Given the description of an element on the screen output the (x, y) to click on. 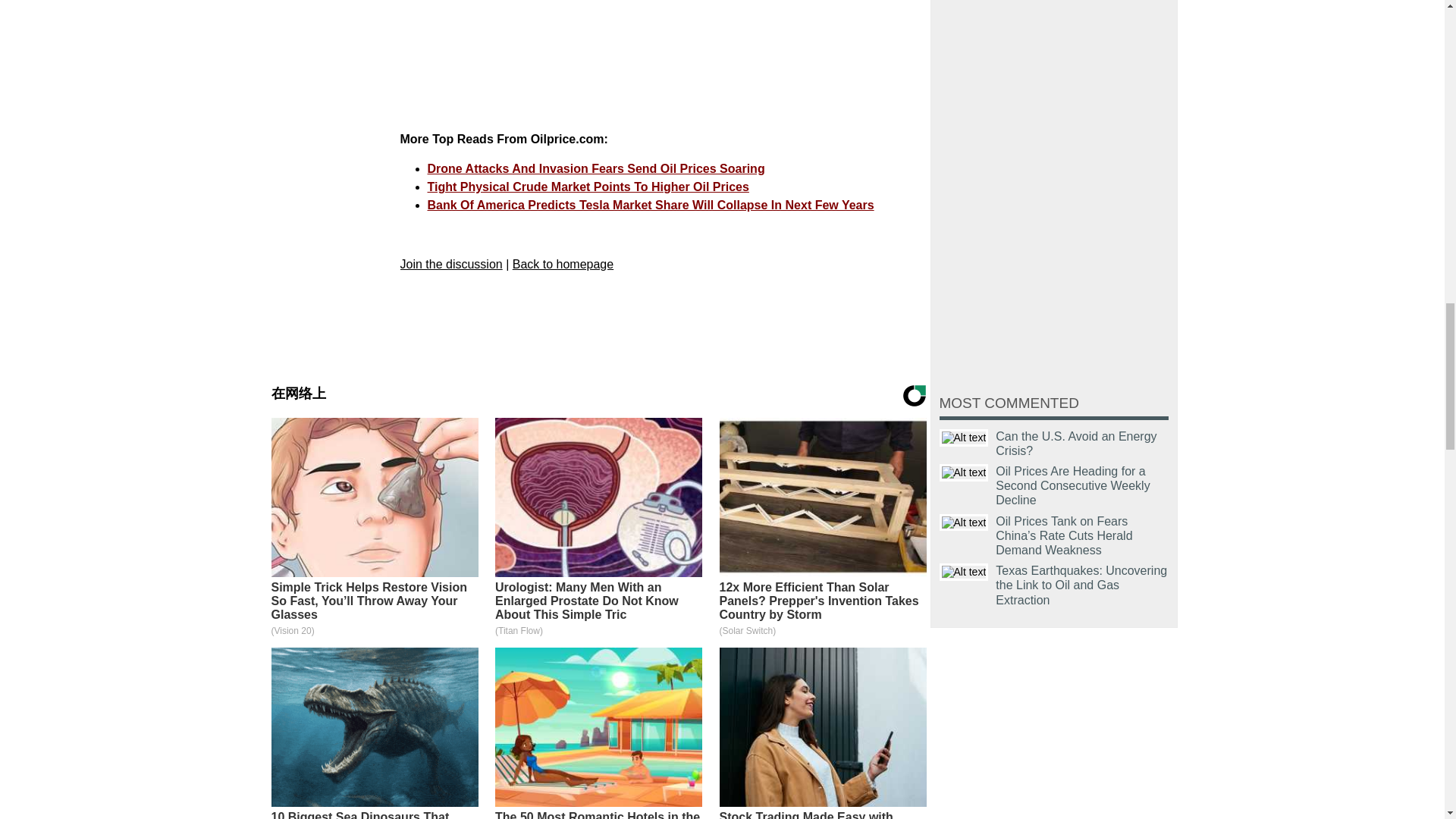
Title text (963, 571)
Title text (963, 437)
Title text (963, 472)
Title text (963, 522)
